Given the description of an element on the screen output the (x, y) to click on. 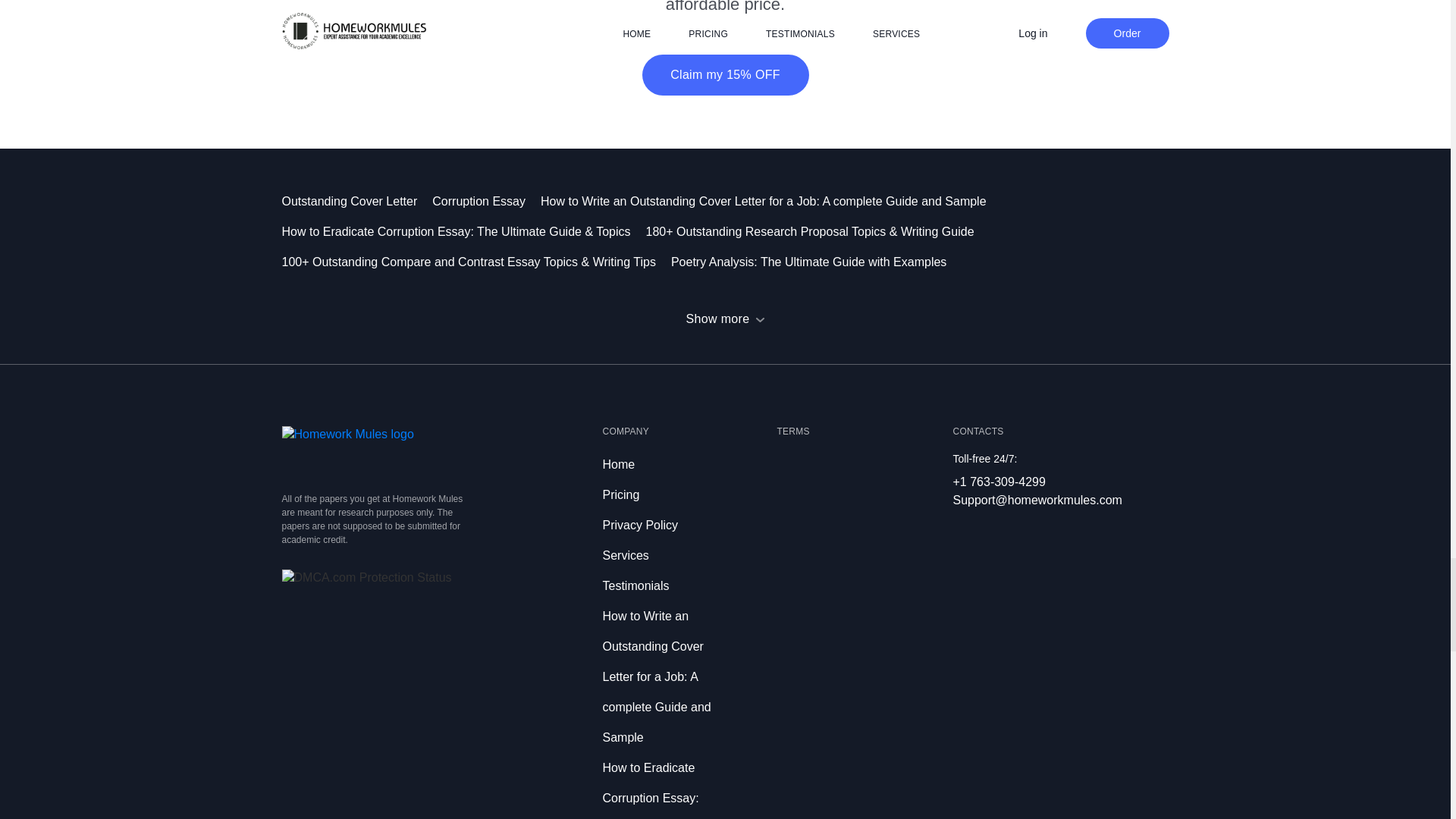
Poetry Analysis: The Ultimate Guide with Examples (815, 261)
Outstanding Cover Letter (357, 201)
Corruption Essay (486, 201)
